Given the description of an element on the screen output the (x, y) to click on. 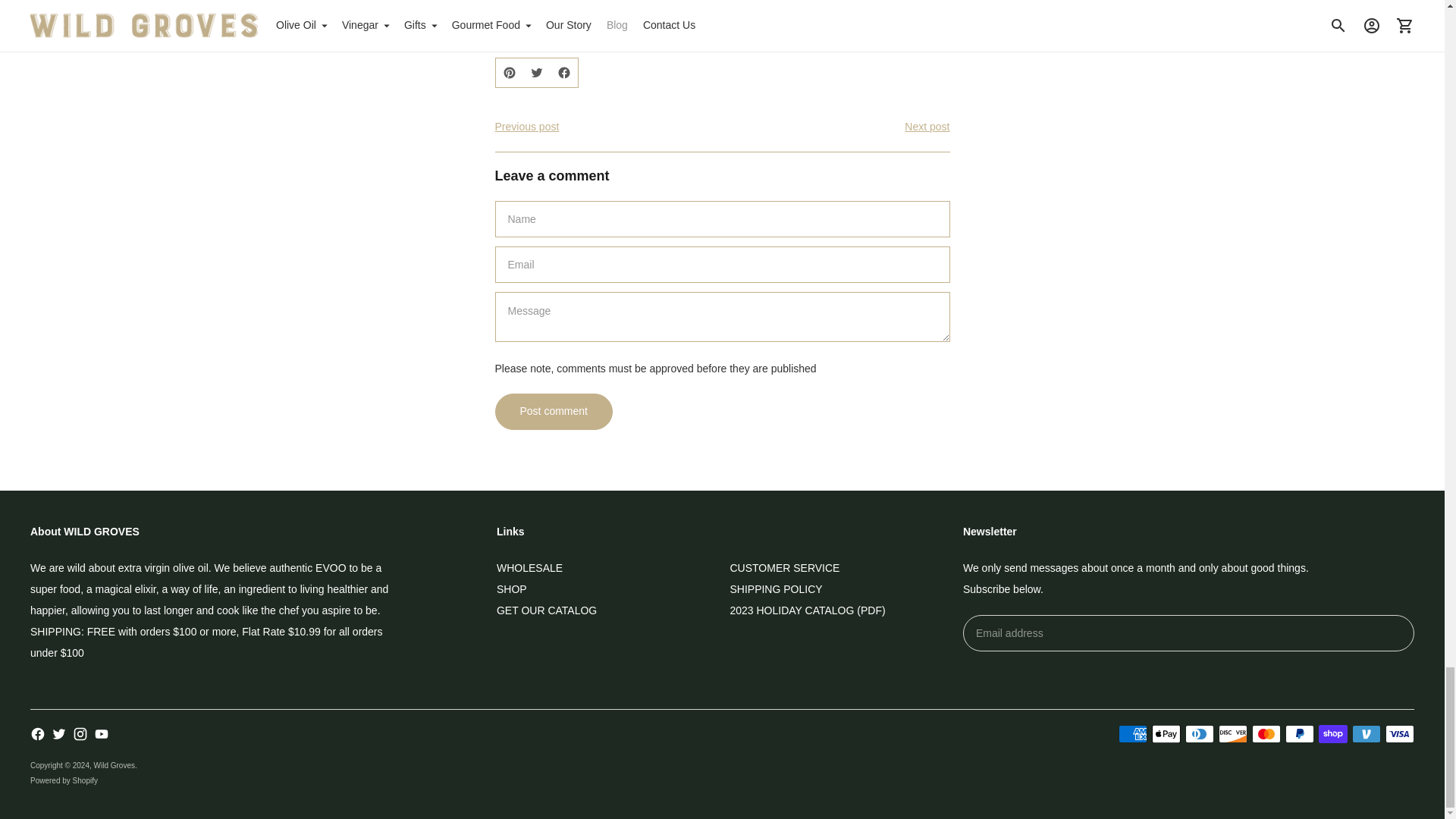
Wild Groves on Instagram (79, 734)
Wild Groves on Twitter (58, 734)
Wild Groves on Facebook (37, 734)
Share to Pinterest (509, 72)
Wild Groves on YouTube (101, 734)
Share to Facebook (564, 72)
Share to twitter (536, 72)
